Given the description of an element on the screen output the (x, y) to click on. 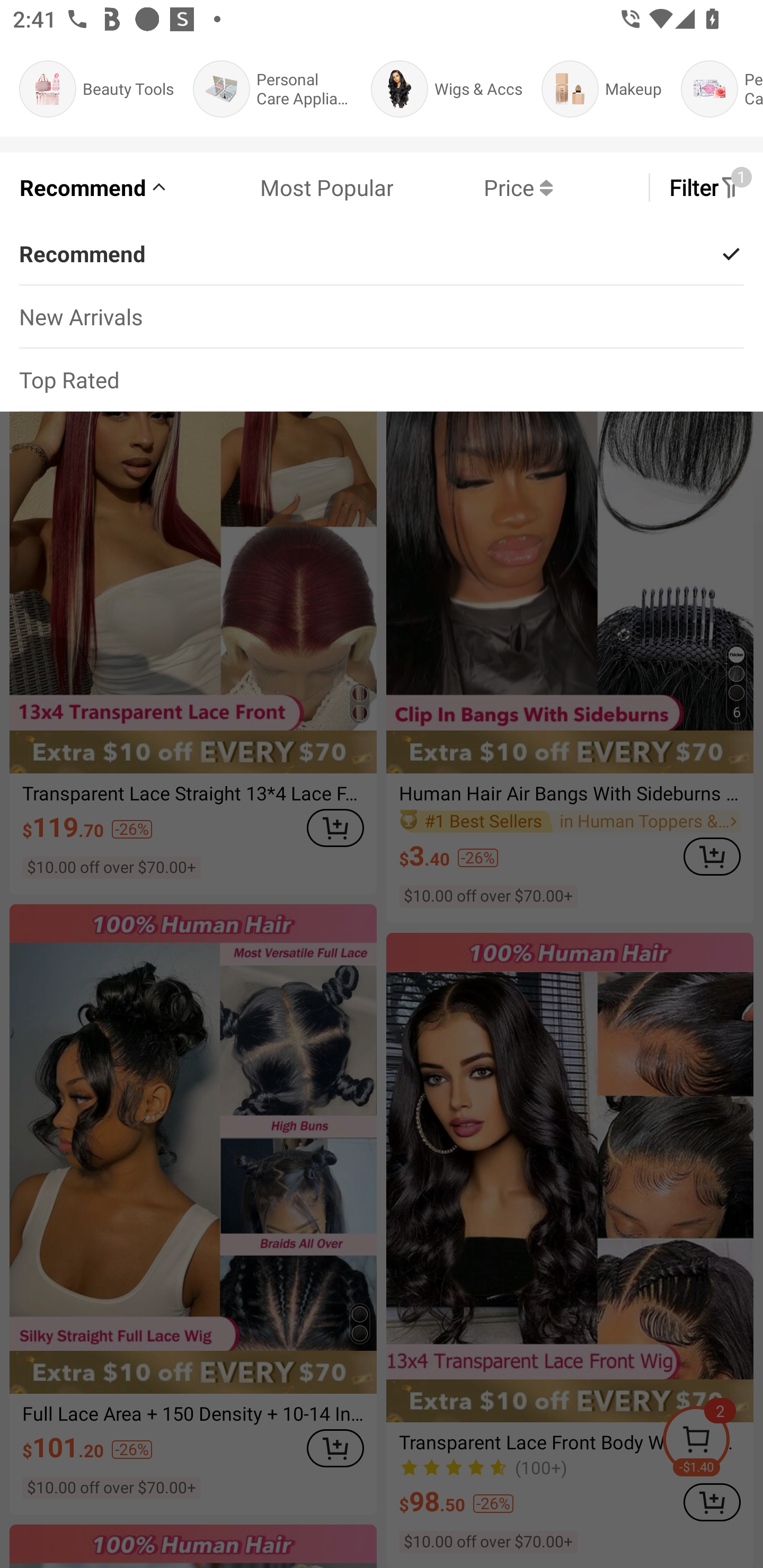
Beauty Tools (96, 89)
Personal Care Appliance (272, 89)
Wigs & Accs (446, 89)
Makeup (601, 89)
Personal Care (721, 89)
Recommend (94, 187)
Most Popular (280, 187)
Price (472, 187)
Filter 1 (705, 187)
